Given the description of an element on the screen output the (x, y) to click on. 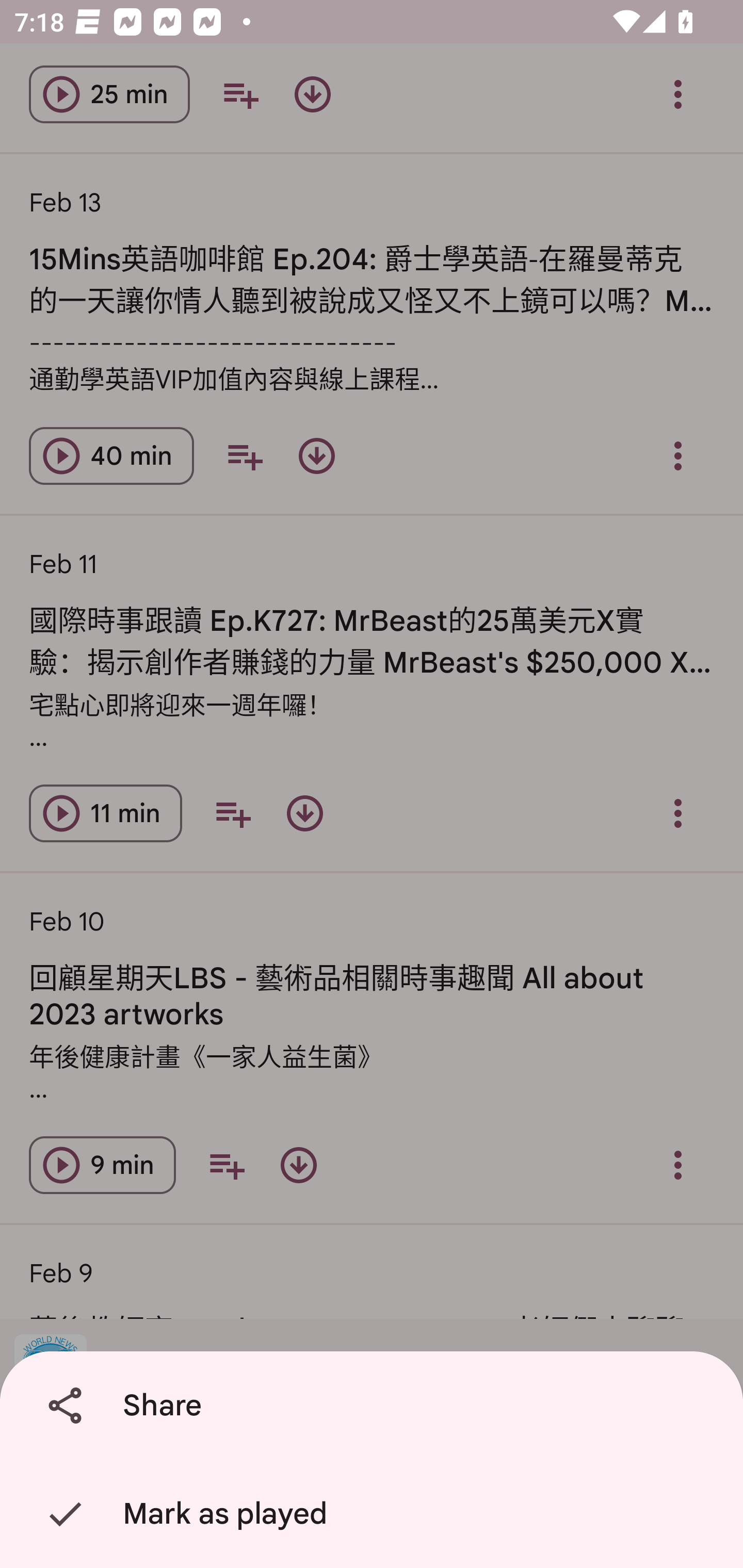
Share (375, 1405)
Mark as played (375, 1513)
